Given the description of an element on the screen output the (x, y) to click on. 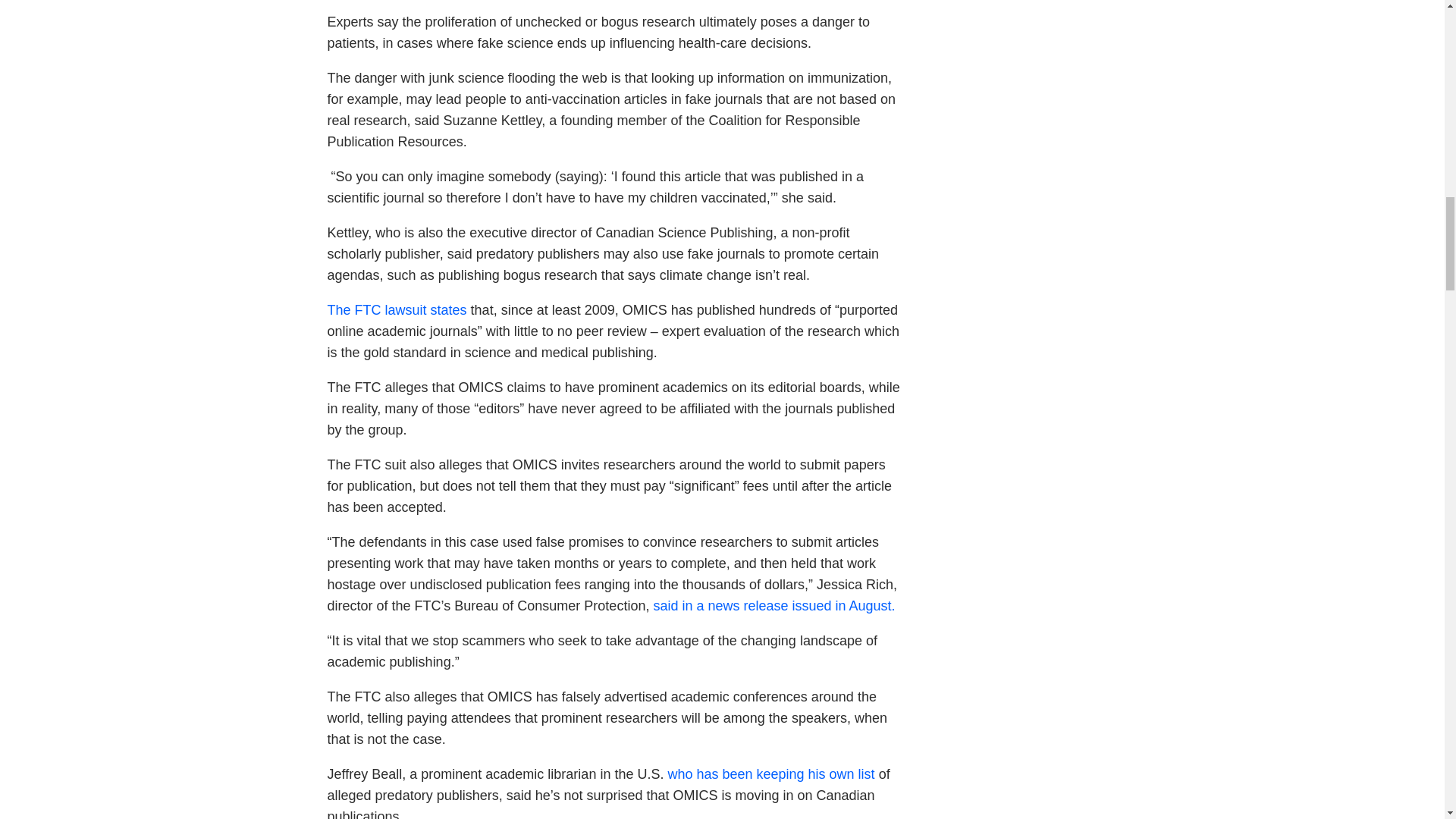
The FTC lawsuit states (397, 309)
who has been keeping his own list (770, 774)
said in a news release issued in August. (773, 605)
